Given the description of an element on the screen output the (x, y) to click on. 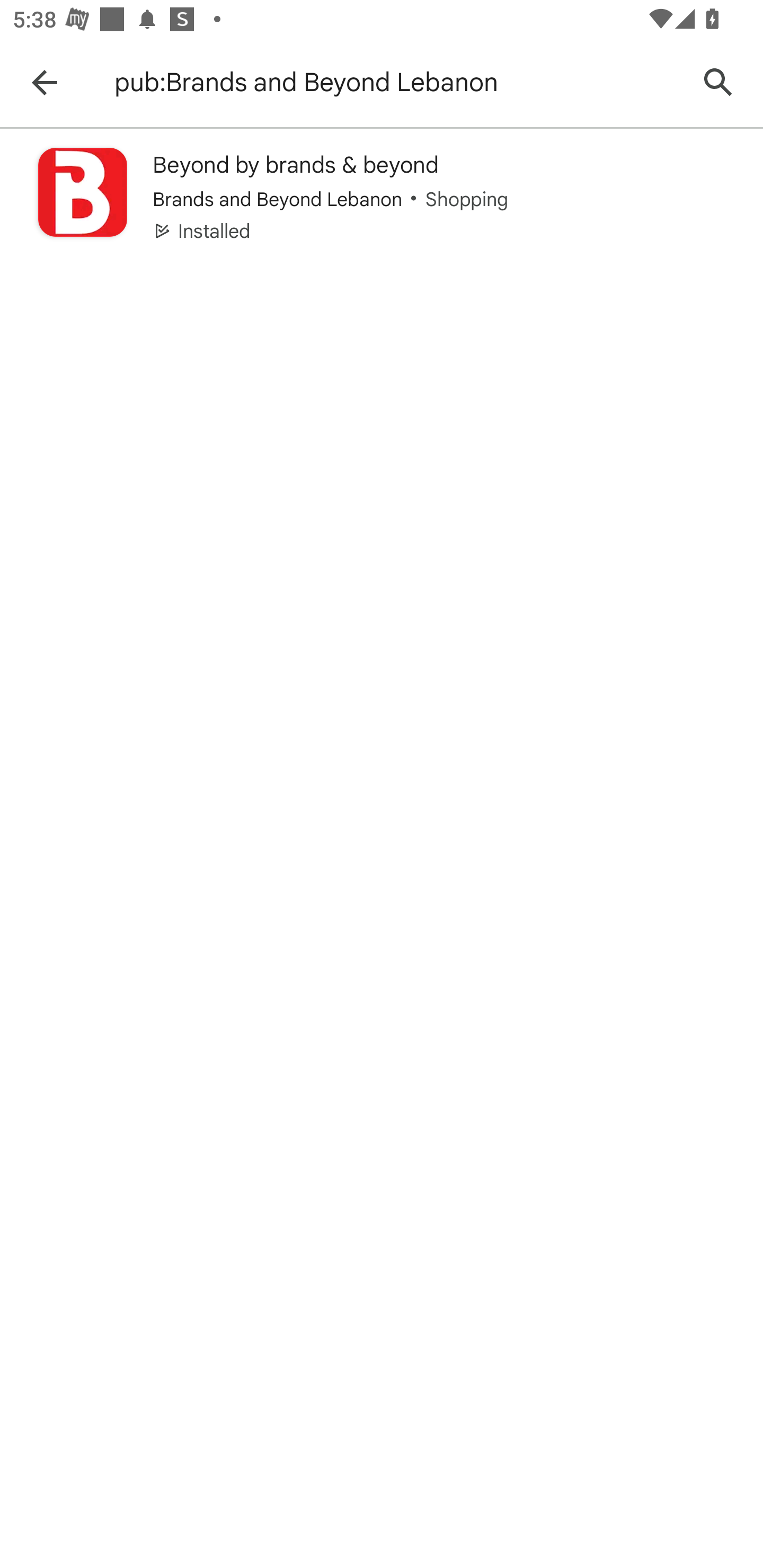
pub:Brands and Beyond Lebanon (397, 82)
Navigate up (44, 81)
Search Google Play (718, 81)
